Given the description of an element on the screen output the (x, y) to click on. 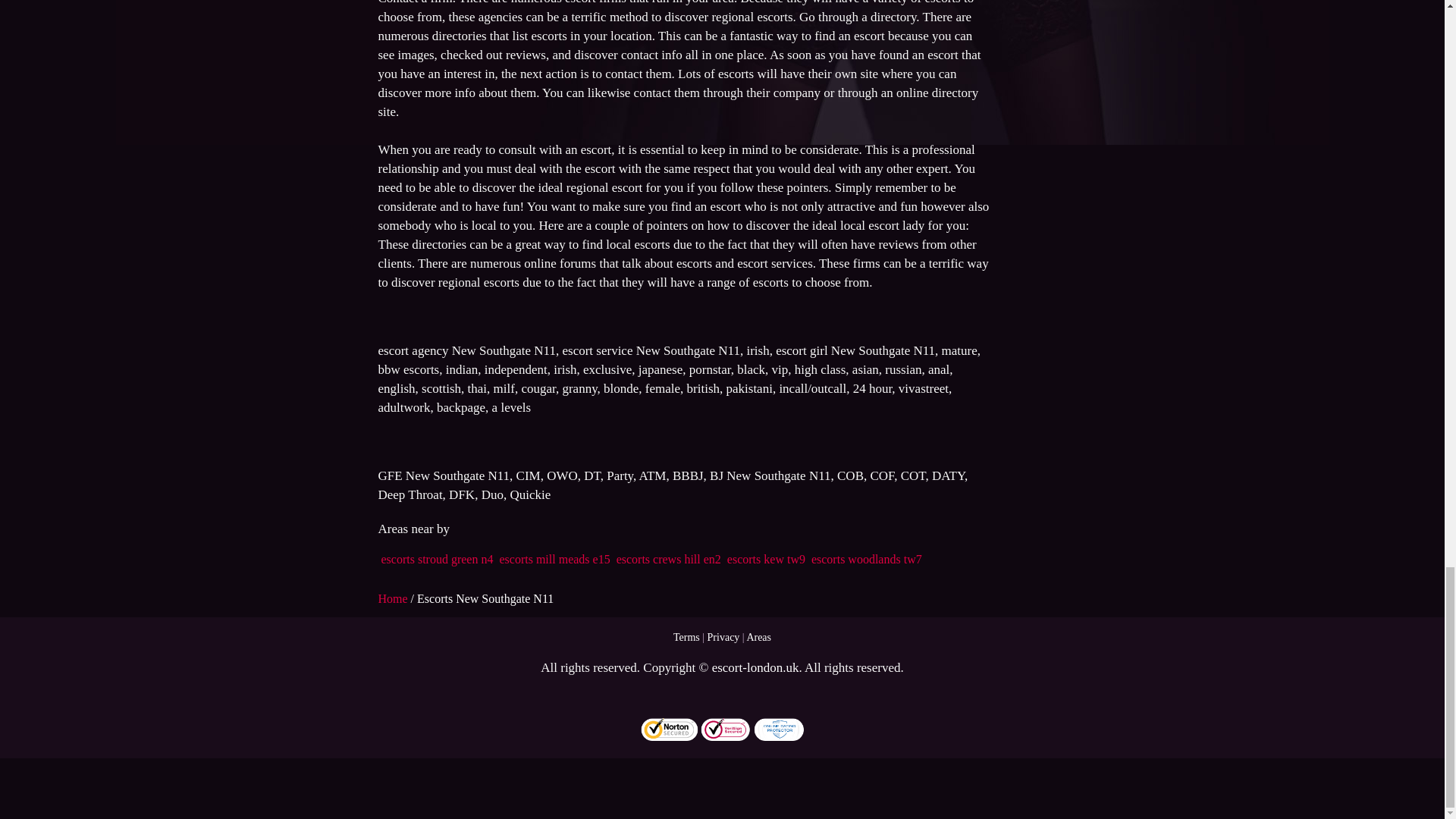
Areas (758, 636)
escorts stroud green n4 (436, 558)
escort-london.uk (755, 667)
escorts woodlands tw7 (865, 558)
Privacy (723, 636)
Terms (686, 636)
Areas (758, 636)
escorts crews hill en2 (667, 558)
Privacy (723, 636)
escort-london.uk (755, 667)
